Given the description of an element on the screen output the (x, y) to click on. 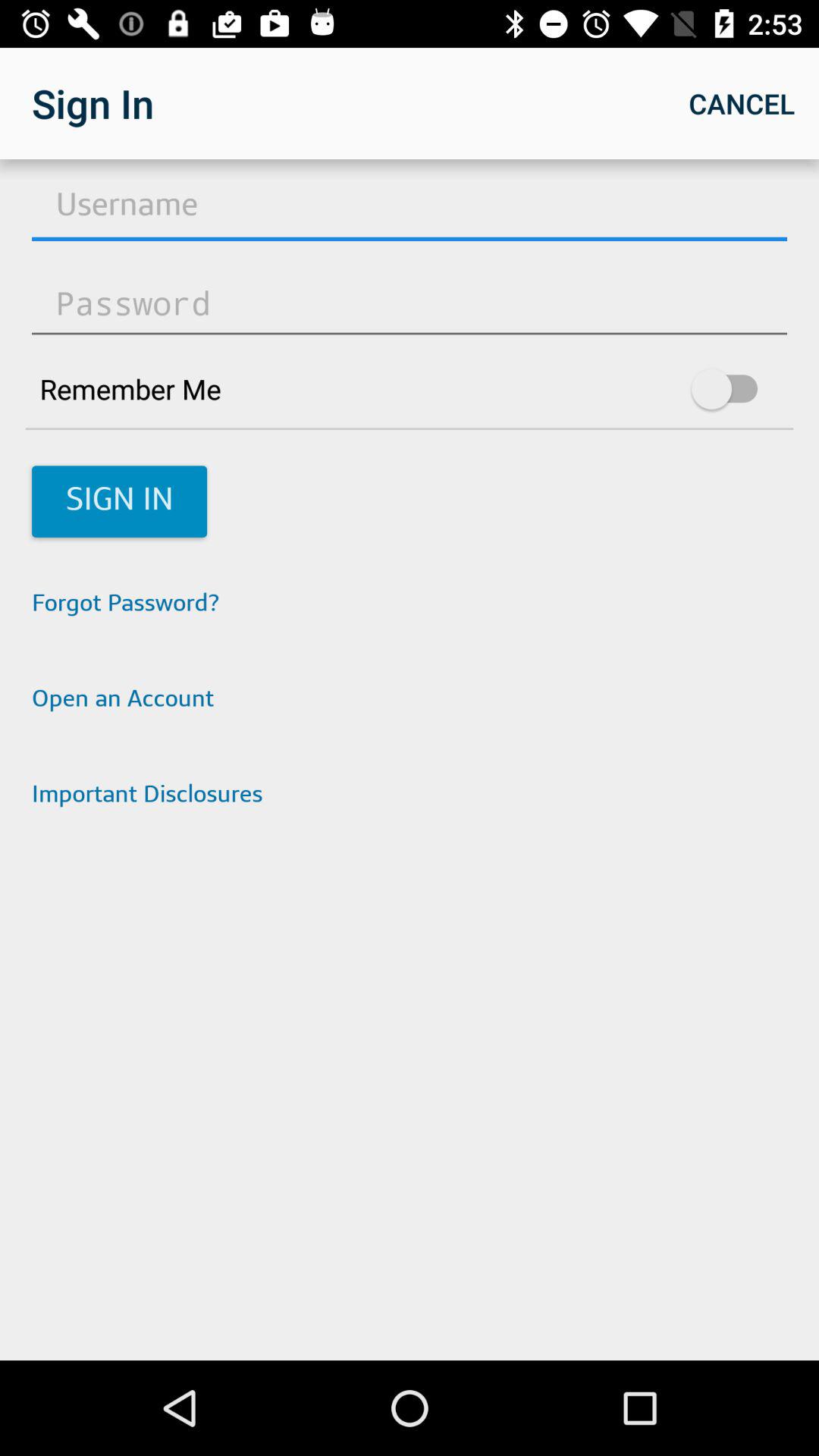
turn off the icon above important disclosures item (409, 700)
